Given the description of an element on the screen output the (x, y) to click on. 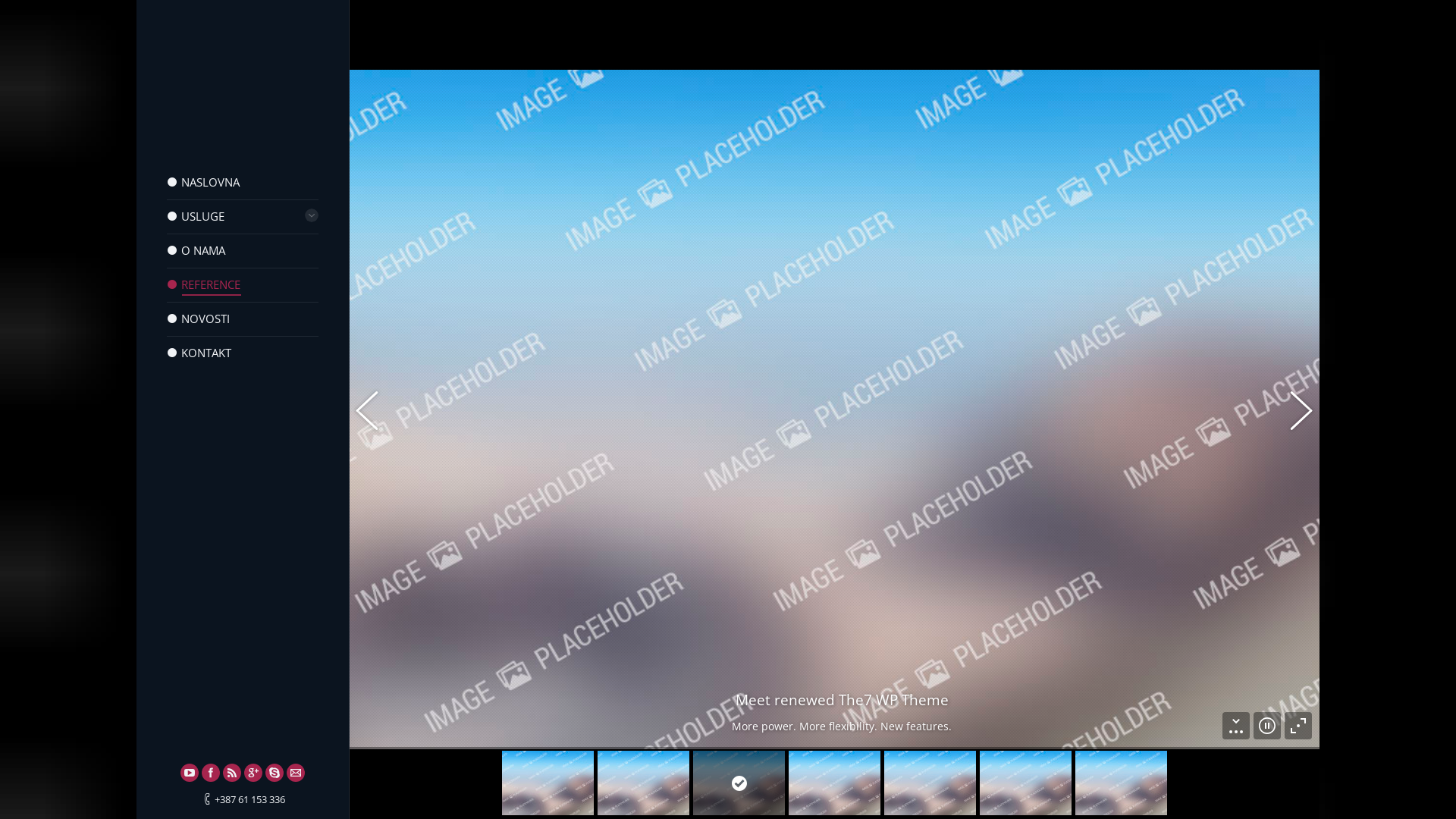
USLUGE Element type: text (195, 216)
YouTube Element type: hover (189, 772)
Google+ Element type: hover (253, 772)
Mail Element type: hover (295, 772)
Rss Element type: hover (231, 772)
NOVOSTI Element type: text (198, 318)
Facebook Element type: hover (210, 772)
KONTAKT Element type: text (199, 352)
REFERENCE Element type: text (203, 284)
O NAMA Element type: text (195, 250)
NASLOVNA Element type: text (203, 182)
Skype Element type: hover (274, 772)
